Given the description of an element on the screen output the (x, y) to click on. 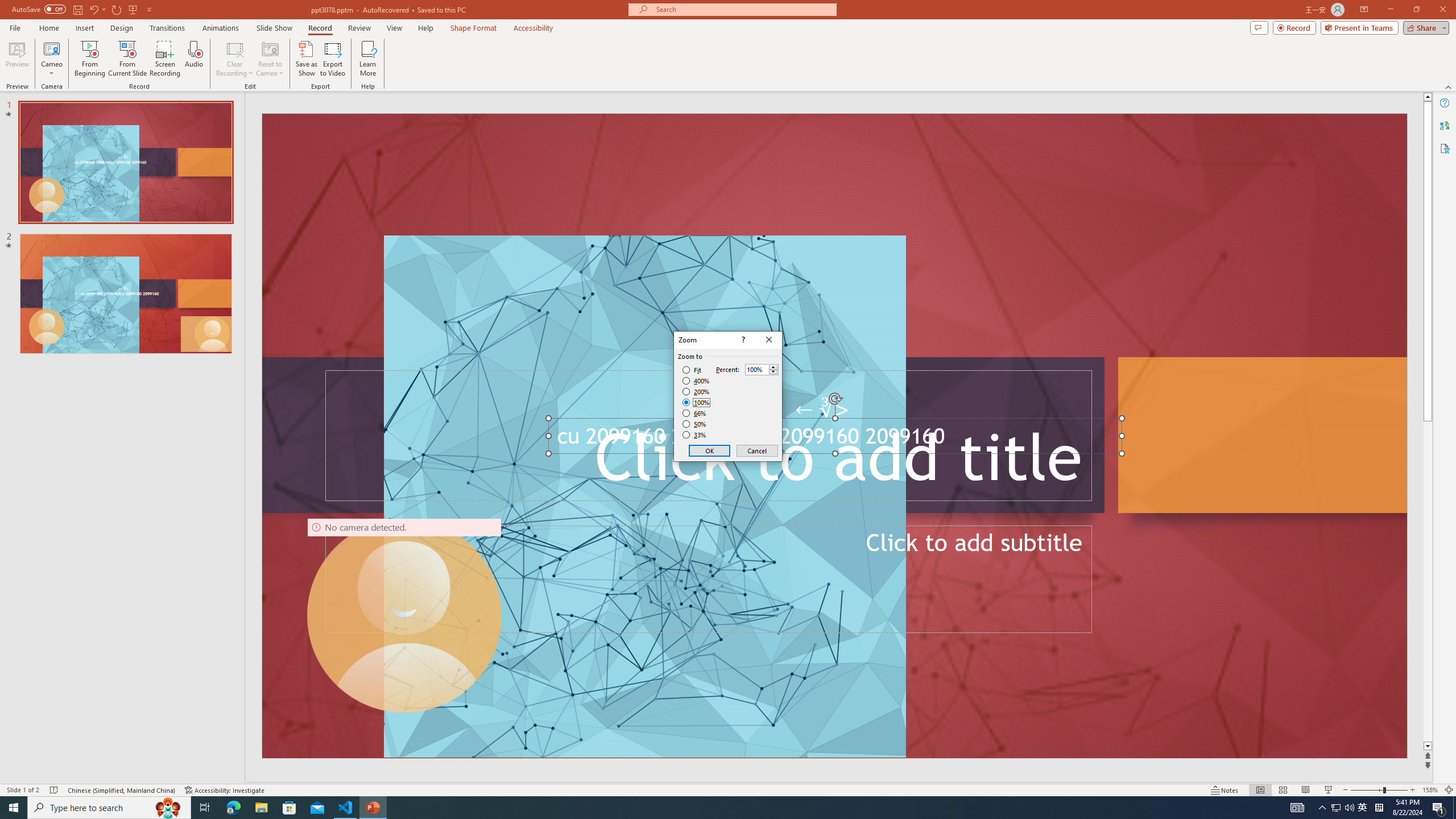
33% (694, 434)
Zoom 158% (1430, 790)
